Given the description of an element on the screen output the (x, y) to click on. 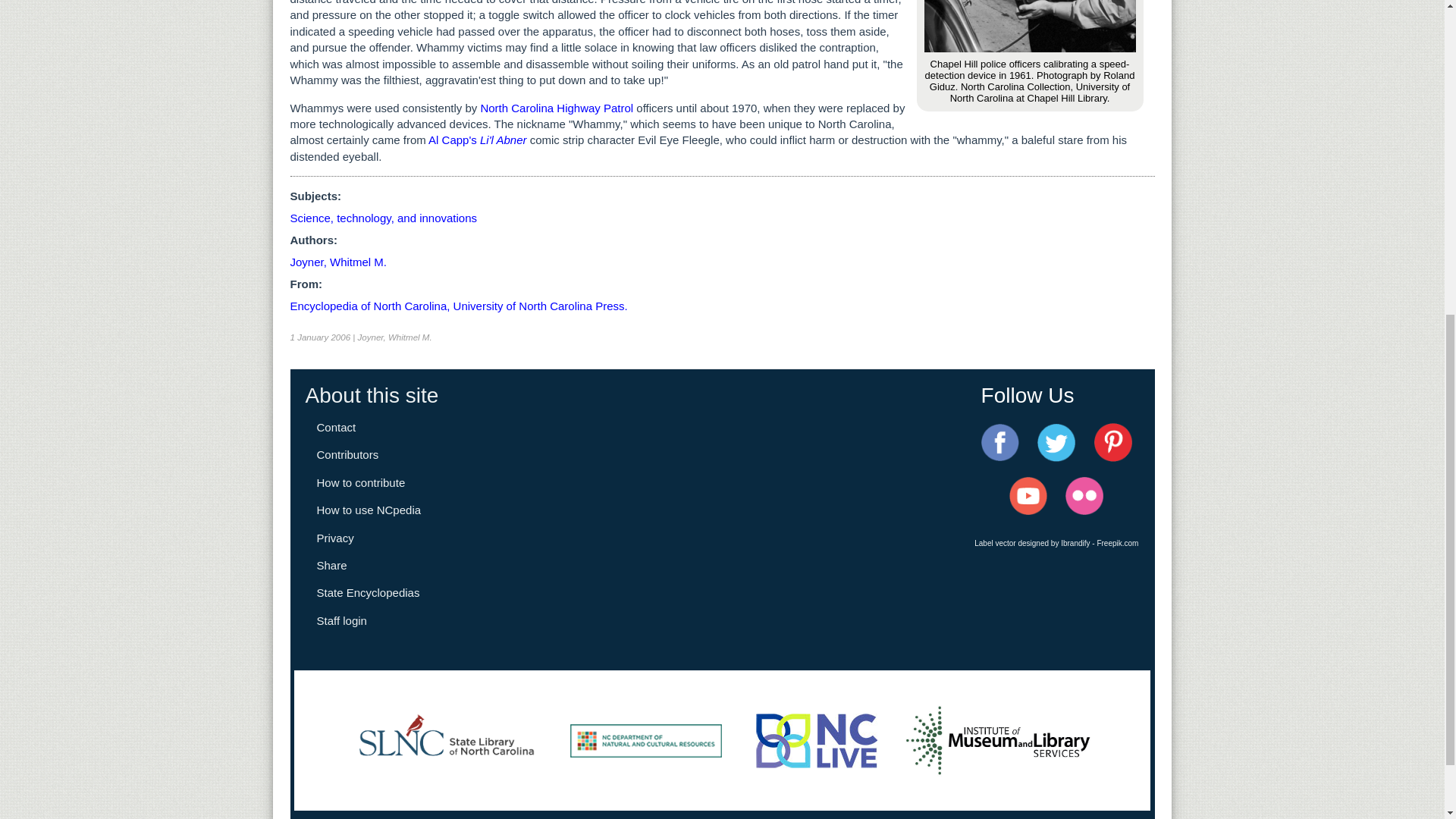
Share (332, 564)
Al Capp's Li'l Abner (476, 139)
Contact (336, 427)
Label vector designed by Ibrandify - Freepik.com (1056, 542)
Privacy (335, 537)
How to use NCpedia (369, 509)
State Encyclopedias (368, 592)
Science, technology, and innovations (383, 217)
North Carolina Highway Patrol (556, 107)
